Given the description of an element on the screen output the (x, y) to click on. 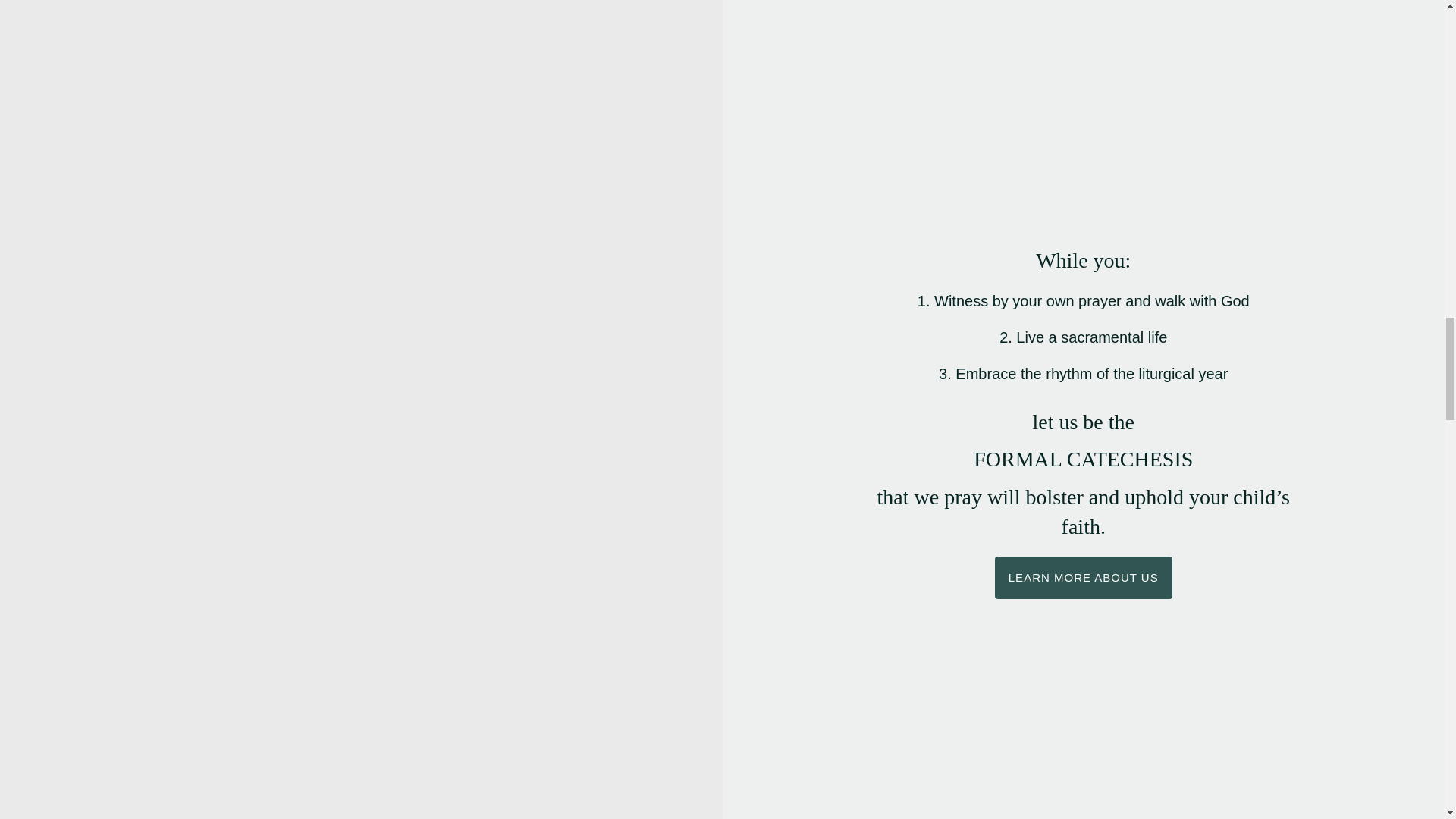
About (1083, 577)
